Given the description of an element on the screen output the (x, y) to click on. 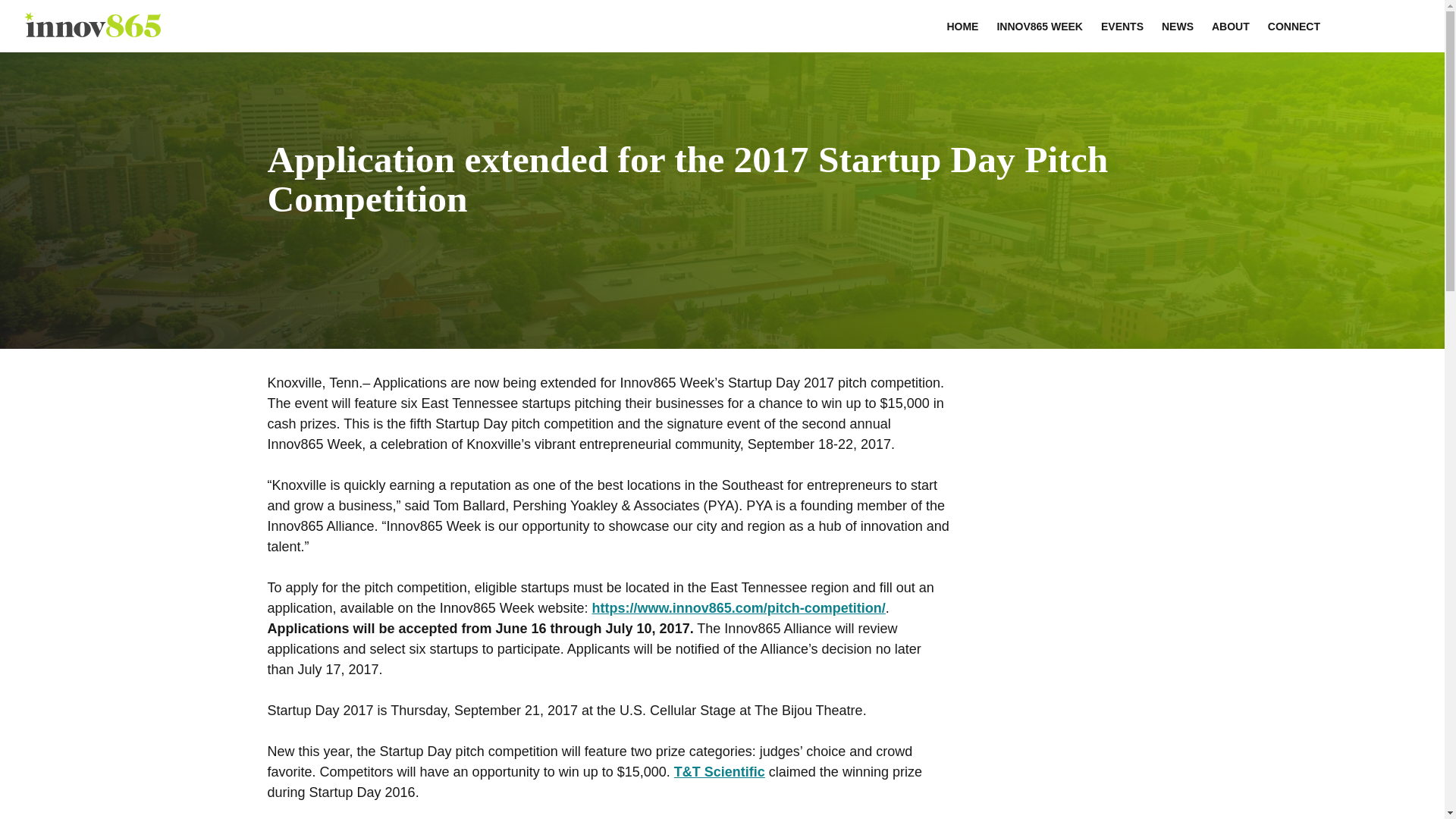
NEWS (1177, 26)
HOME (962, 26)
EVENTS (1122, 26)
INNOV865 WEEK (1039, 26)
CONNECT (1294, 26)
LINKEDIN (1374, 21)
FACEBOOK (1338, 21)
Innov865 (92, 32)
TWITTER (1393, 21)
ABOUT (1230, 26)
Innov865 (92, 32)
YOUTUBE (1411, 21)
INSTAGRAM (1356, 21)
